Given the description of an element on the screen output the (x, y) to click on. 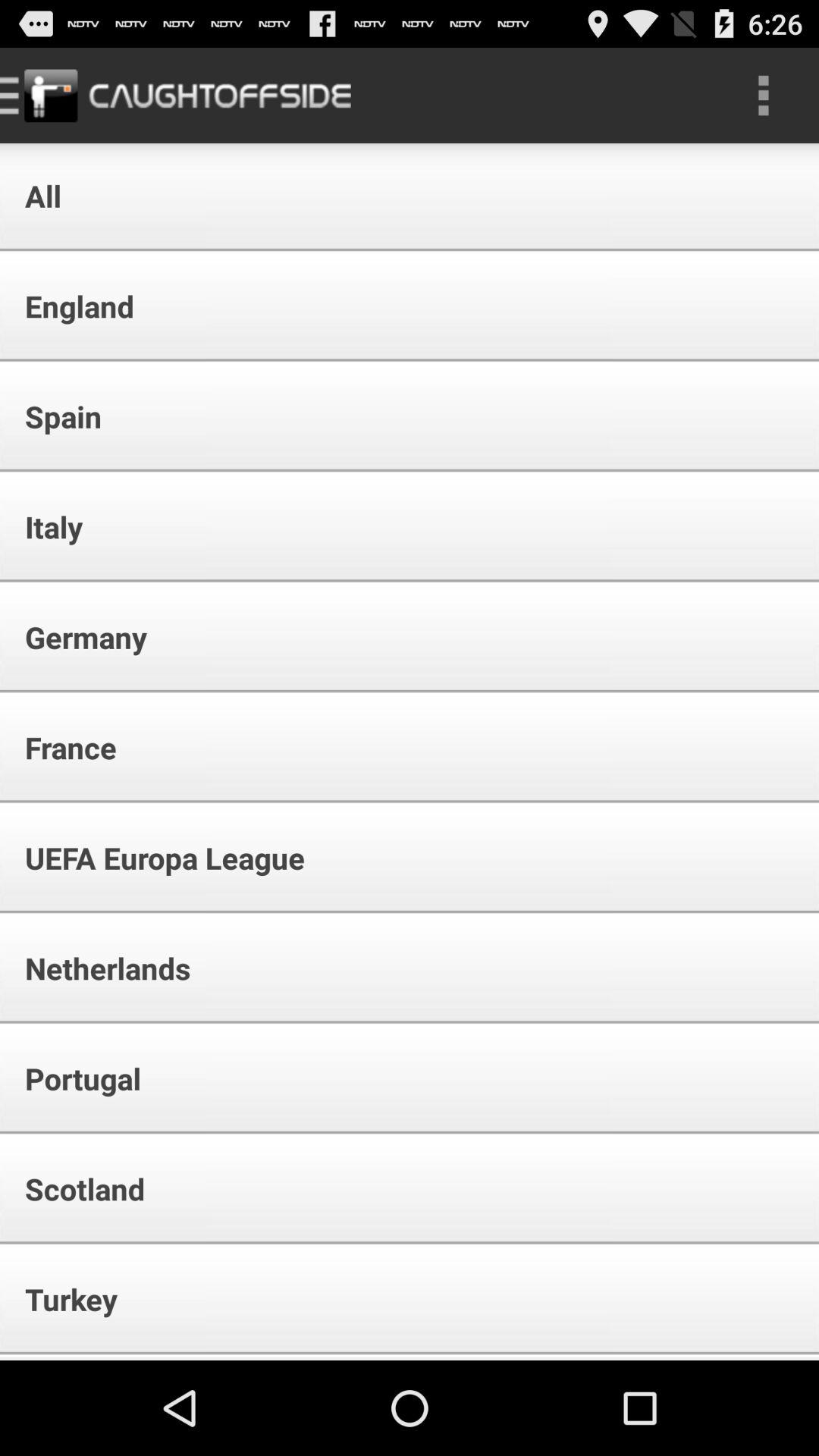
tap the app below uefa europa league (97, 968)
